Given the description of an element on the screen output the (x, y) to click on. 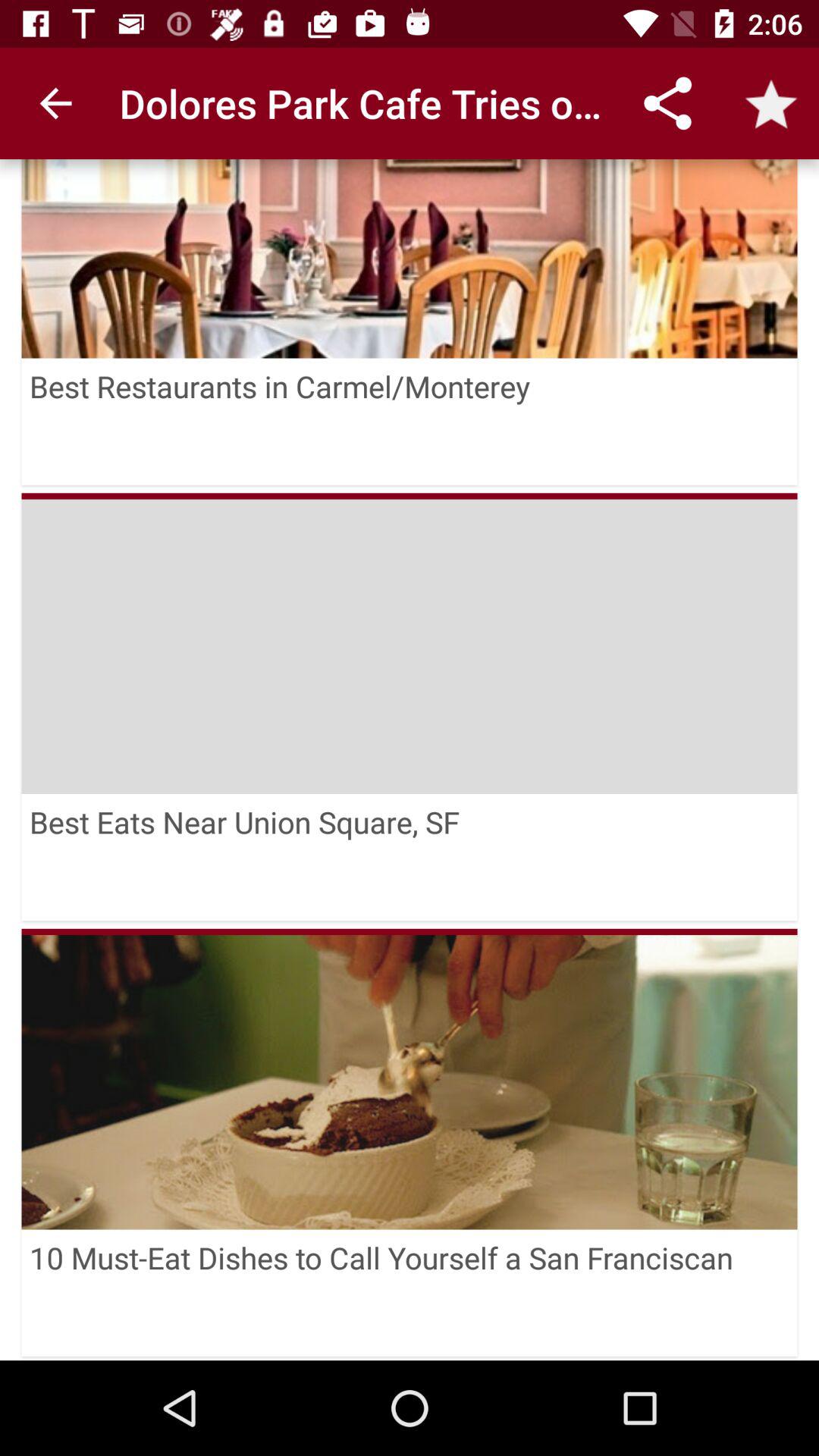
launch item above the best eats near (409, 643)
